Given the description of an element on the screen output the (x, y) to click on. 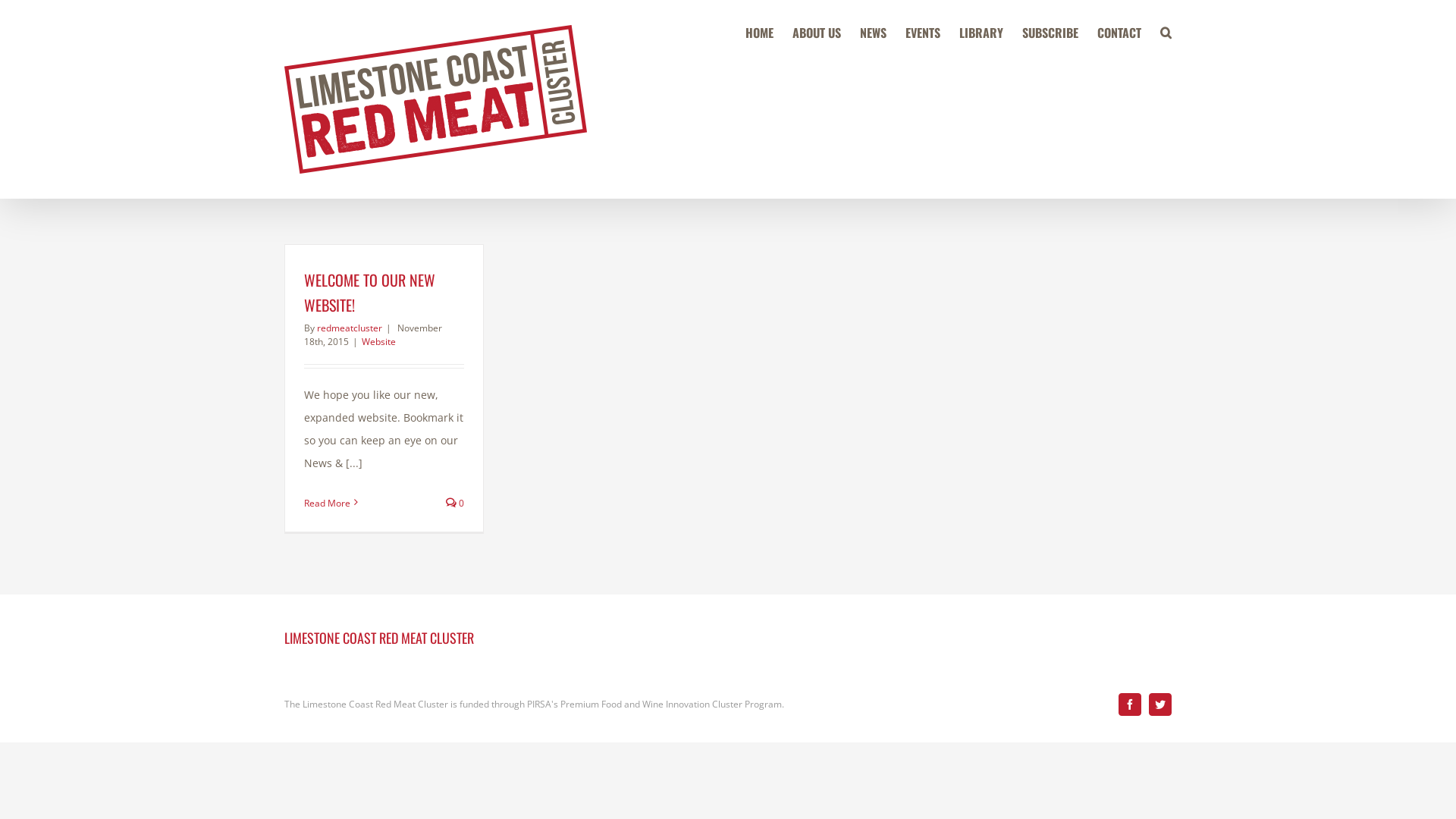
Website Element type: text (378, 341)
Facebook Element type: text (1129, 704)
ABOUT US Element type: text (816, 32)
Twitter Element type: text (1159, 704)
NEWS Element type: text (872, 32)
 0 Element type: text (454, 502)
redmeatcluster Element type: text (349, 327)
Read More Element type: text (327, 502)
EVENTS Element type: text (922, 32)
CONTACT Element type: text (1119, 32)
SUBSCRIBE Element type: text (1050, 32)
LIBRARY Element type: text (981, 32)
WELCOME TO OUR NEW WEBSITE! Element type: text (369, 292)
HOME Element type: text (759, 32)
